Given the description of an element on the screen output the (x, y) to click on. 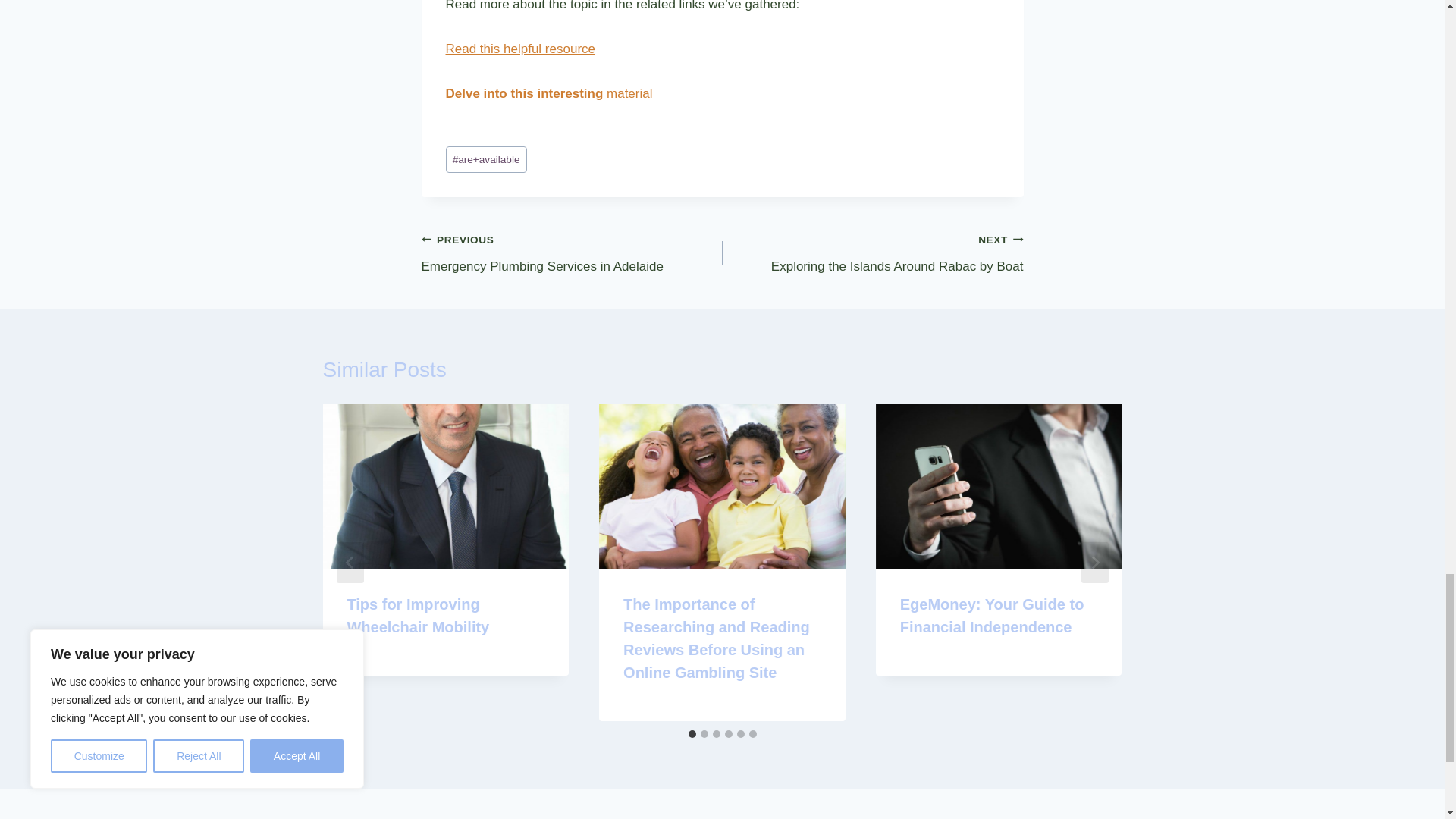
Read this helpful resource (872, 252)
Delve into this interesting material (520, 48)
